Given the description of an element on the screen output the (x, y) to click on. 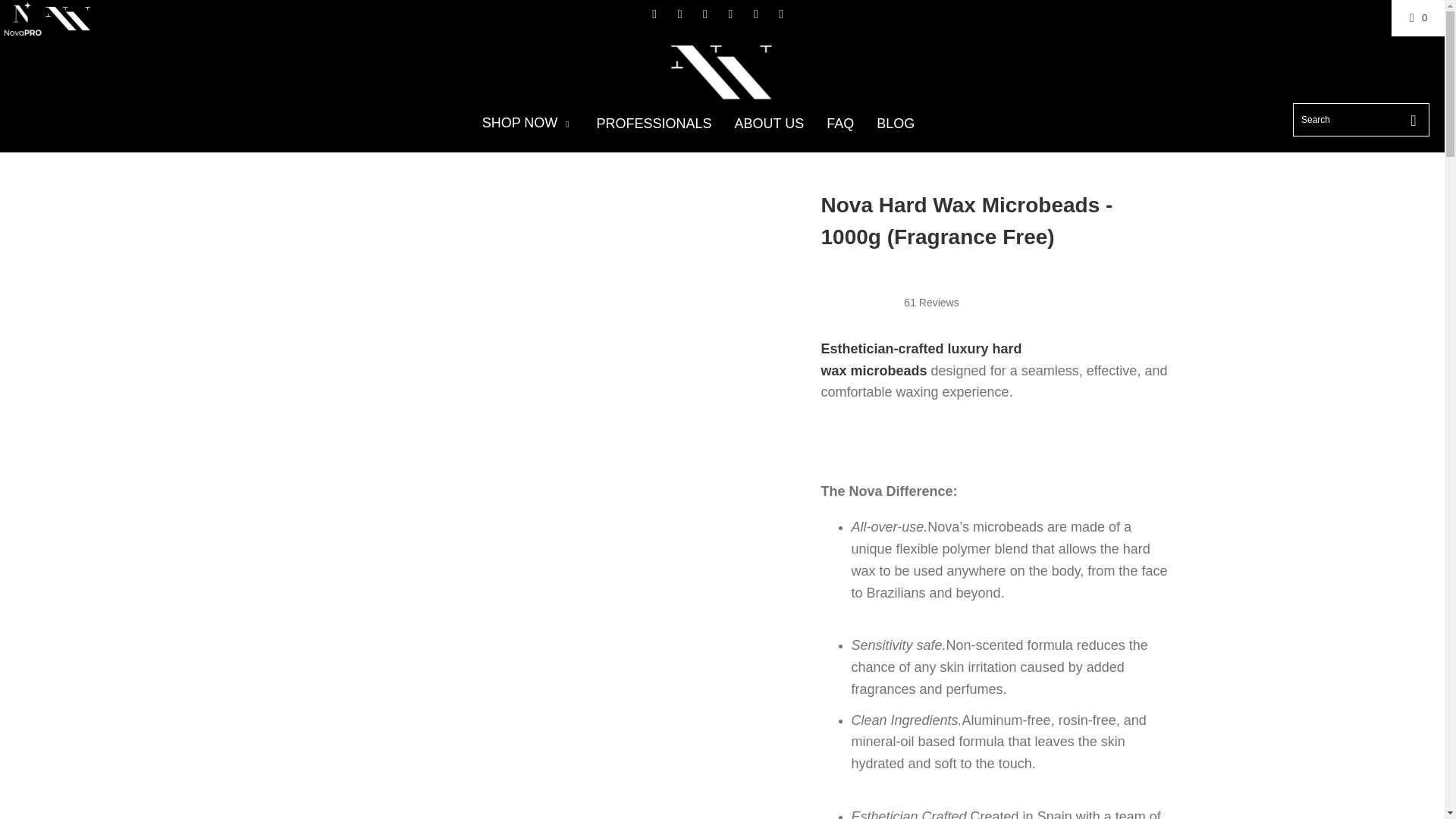
Nova Wax on Instagram (678, 14)
Nova Wax on Pinterest (729, 14)
Nova Wax on Facebook (653, 14)
Nova Wax on LinkedIn (704, 14)
Nova Wax on Twitter (780, 14)
Nova Wax on TikTok (754, 14)
Nova Wax (722, 74)
